Given the description of an element on the screen output the (x, y) to click on. 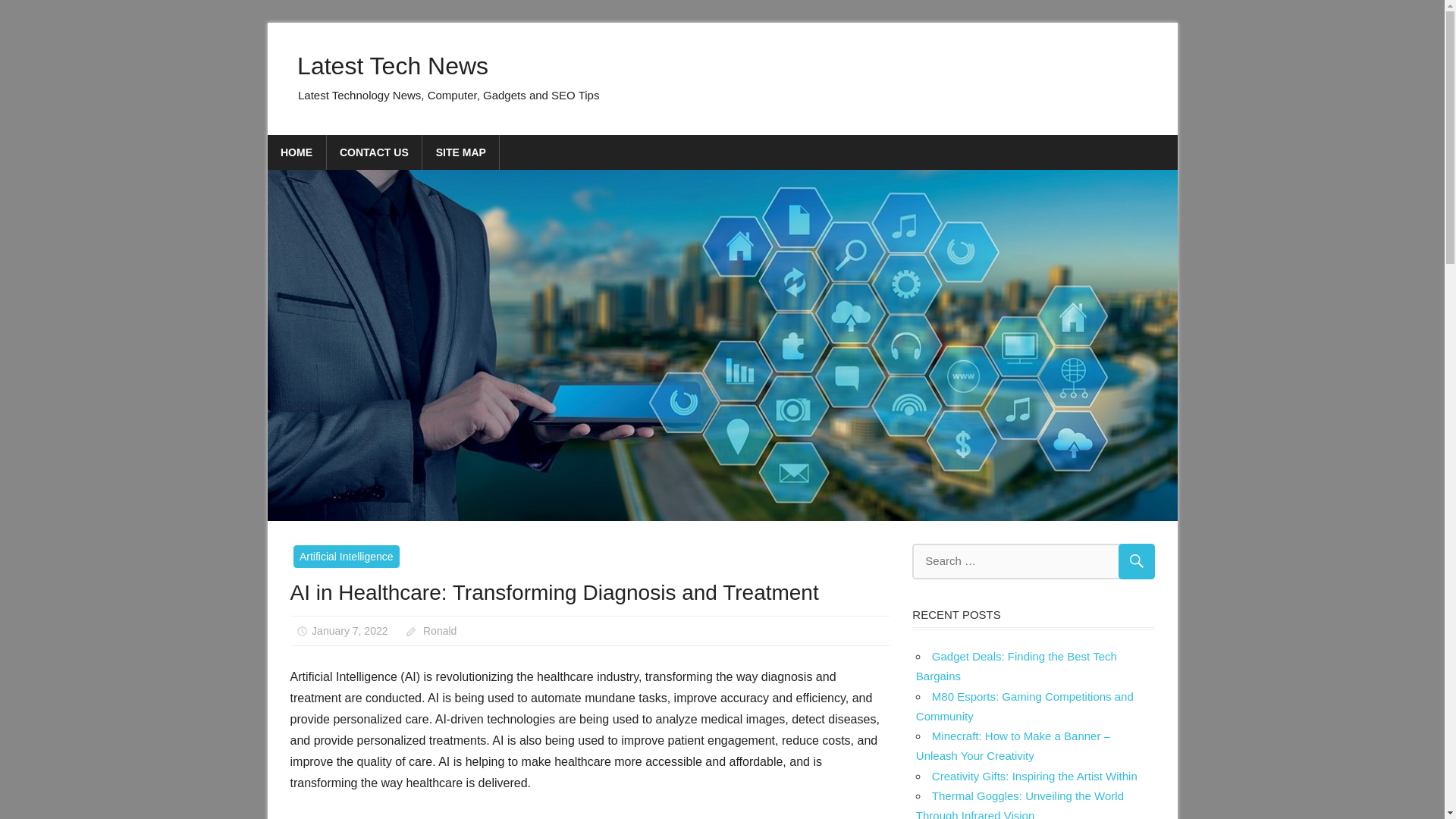
Search for: (1033, 561)
Gadget Deals: Finding the Best Tech Bargains (1015, 666)
Thermal Goggles: Unveiling the World Through Infrared Vision (1019, 804)
January 7, 2022 (349, 630)
HOME (296, 152)
View all posts by Ronald (440, 630)
Latest Tech News (392, 65)
CONTACT US (374, 152)
M80 Esports: Gaming Competitions and Community (1024, 706)
5:32 am (349, 630)
Creativity Gifts: Inspiring the Artist Within (1034, 775)
Artificial Intelligence (345, 556)
SITE MAP (460, 152)
Ronald (440, 630)
